Given the description of an element on the screen output the (x, y) to click on. 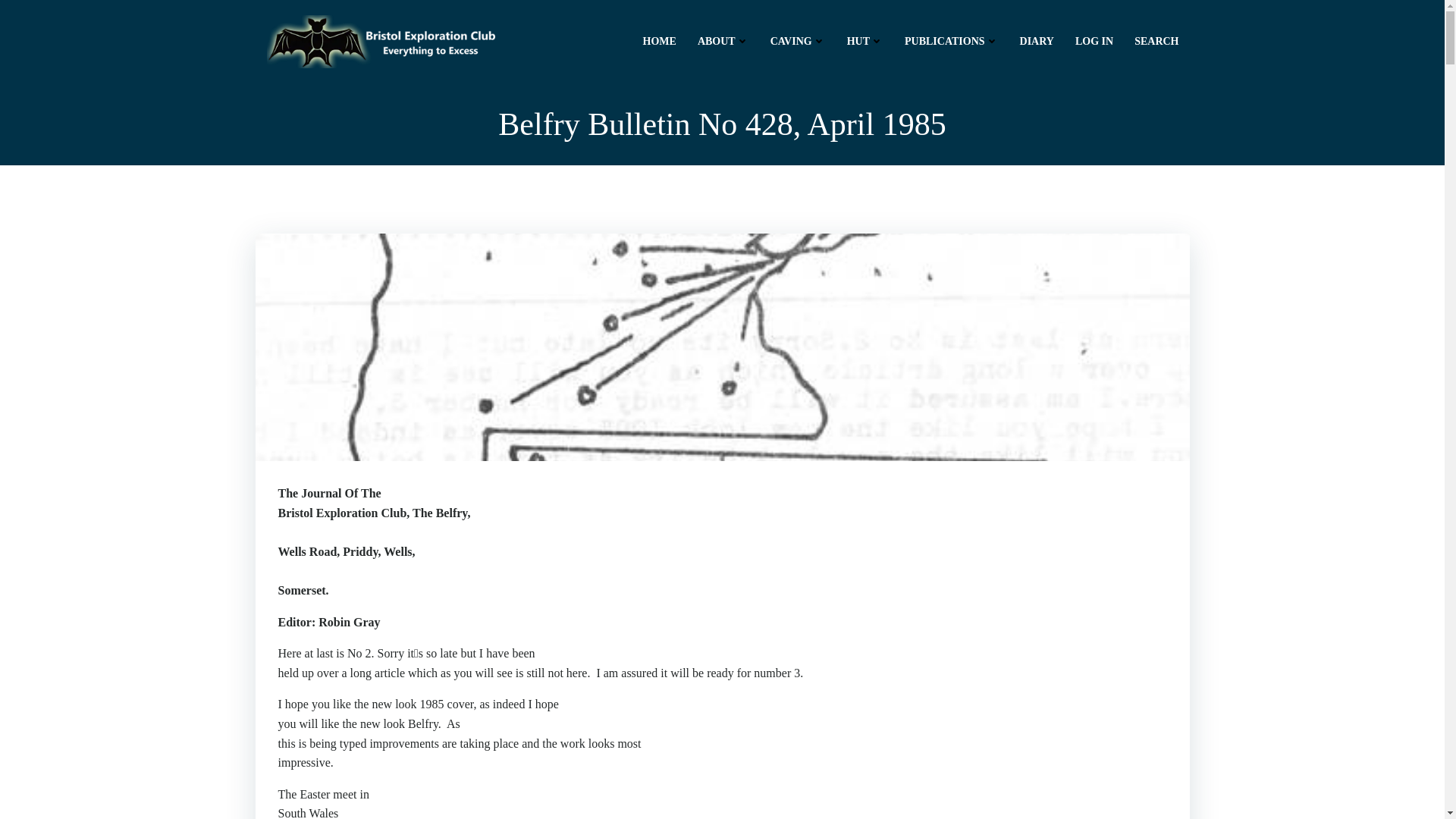
HUT (865, 41)
HOME (660, 39)
PUBLICATIONS (951, 41)
ABOUT (723, 40)
Search (1155, 41)
CAVING (797, 41)
